Given the description of an element on the screen output the (x, y) to click on. 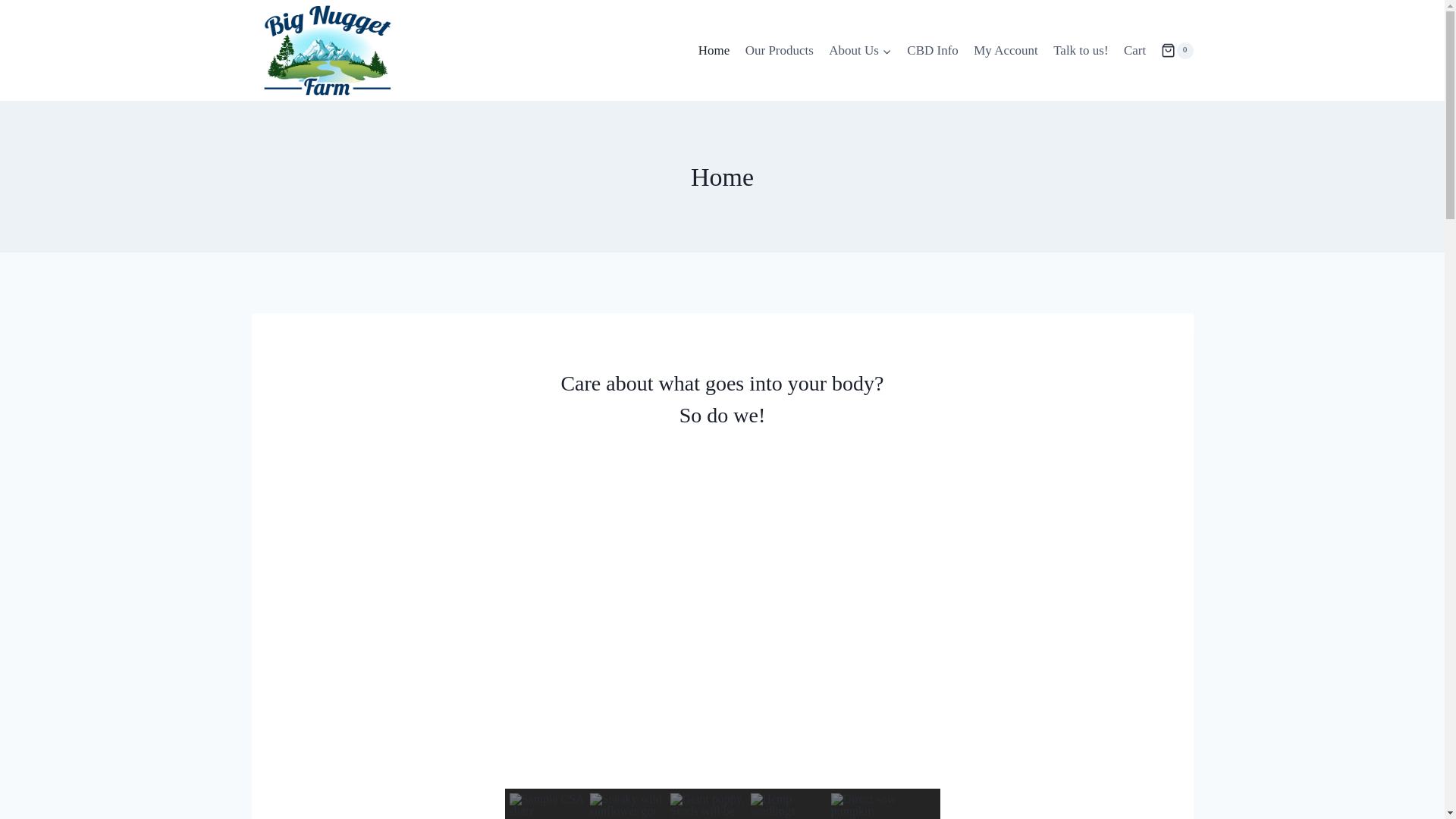
CBD Info (932, 50)
0 (1176, 50)
Talk to us! (1080, 50)
Home (714, 50)
My Account (1005, 50)
About Us (860, 50)
Our Products (780, 50)
Cart (1135, 50)
